Given the description of an element on the screen output the (x, y) to click on. 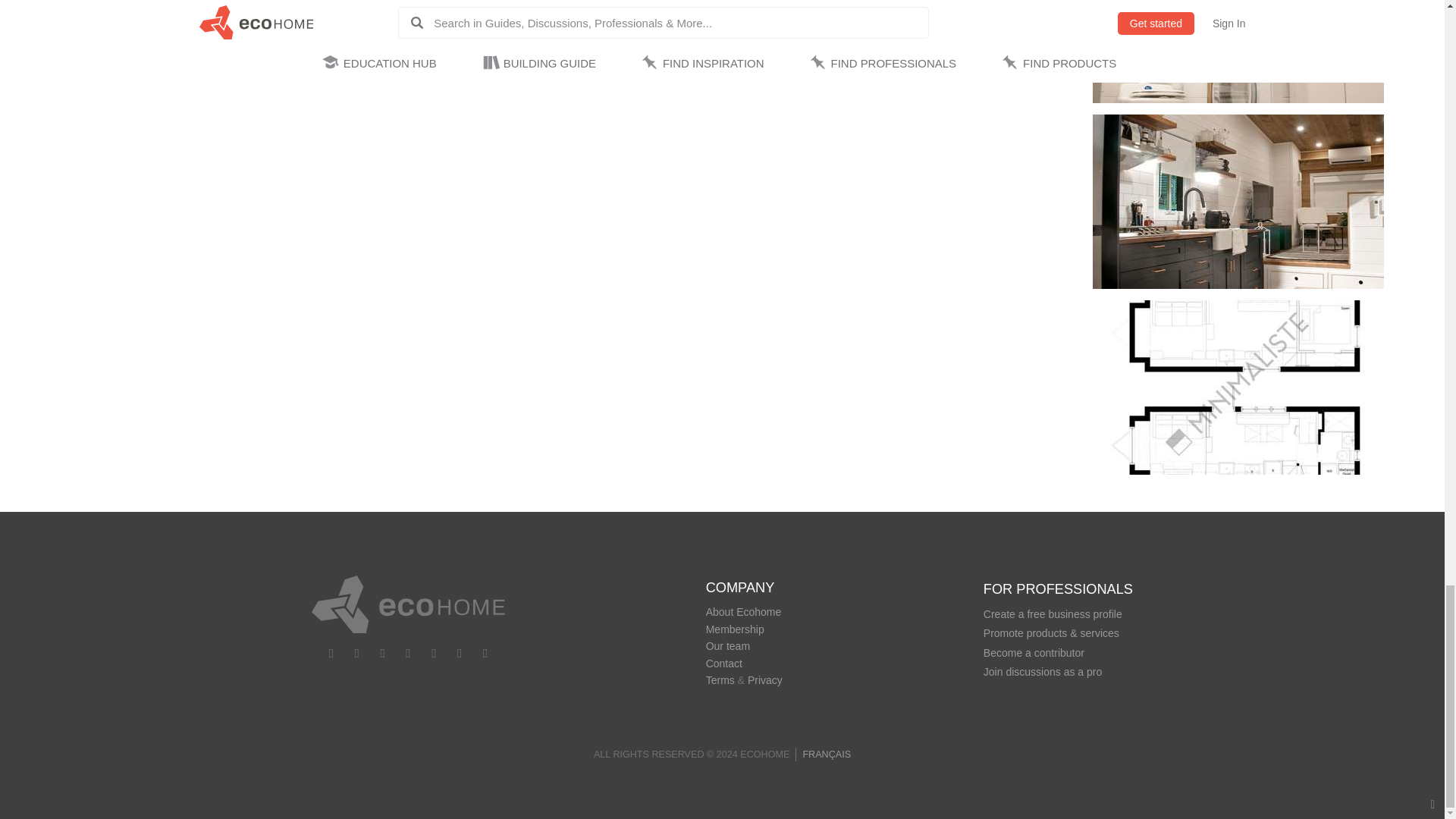
Youtube (357, 650)
Facebook (331, 650)
RSS Feed (485, 650)
Pinterest (459, 650)
LinkedIn (408, 650)
Instagram (382, 650)
